Given the description of an element on the screen output the (x, y) to click on. 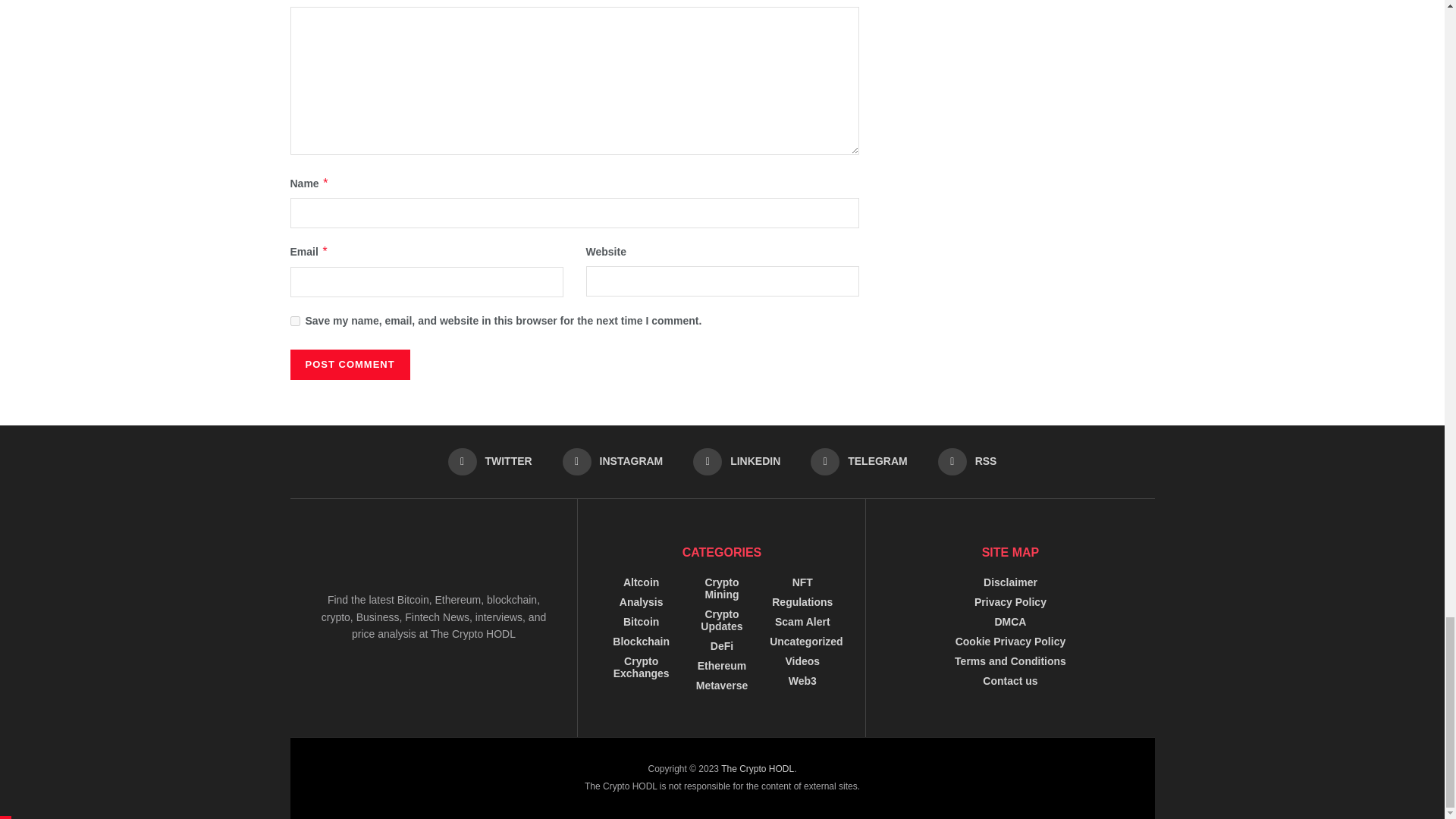
The Crypto HODL (756, 768)
Post Comment (349, 364)
yes (294, 320)
